Given the description of an element on the screen output the (x, y) to click on. 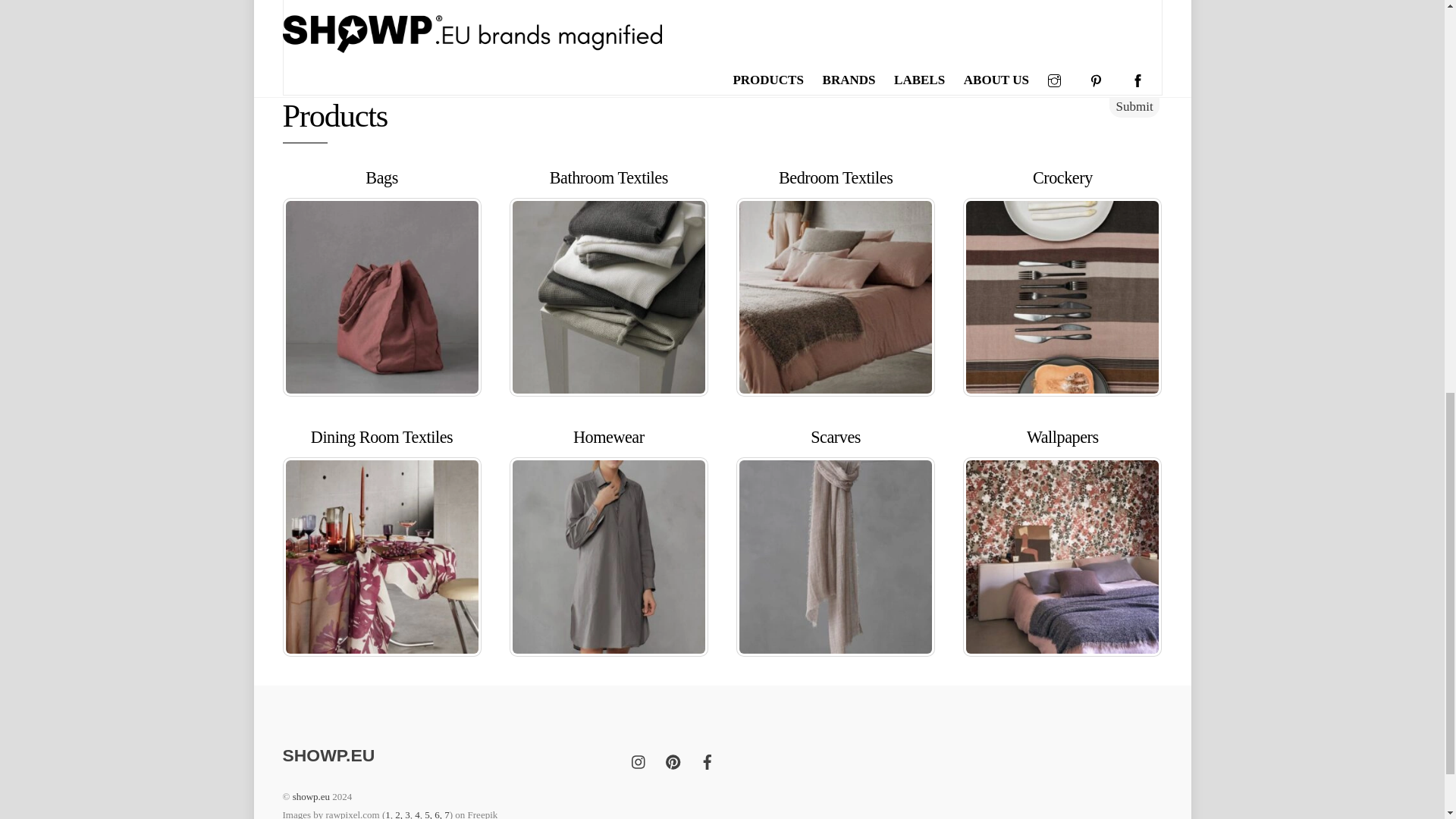
Crockery (1061, 297)
Bedroom Textiles (835, 177)
Bathroom Textiles (608, 297)
SHOWP.EU (328, 754)
Bedroom Textiles (835, 297)
Scarves (835, 436)
Homewear (609, 436)
Bags (381, 177)
Homewear (608, 556)
showp.eu (328, 754)
Scarves (835, 556)
Wallpapers (1062, 436)
Dinnin Room Textiles (381, 556)
Wallpapers (1061, 556)
Crockery (1062, 177)
